Given the description of an element on the screen output the (x, y) to click on. 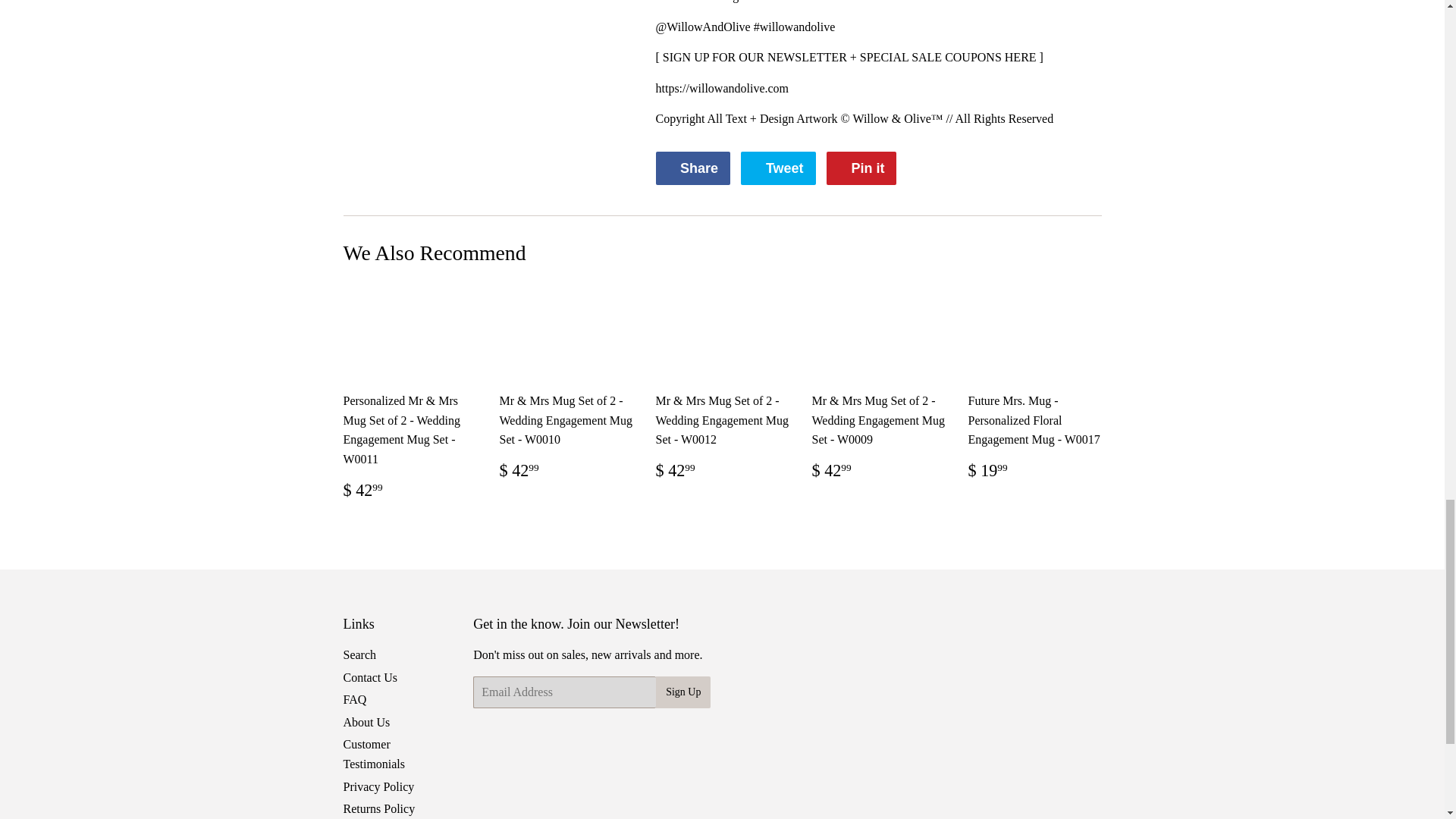
Share on Facebook (692, 168)
Pin on Pinterest (692, 168)
Tweet on Twitter (778, 168)
